Given the description of an element on the screen output the (x, y) to click on. 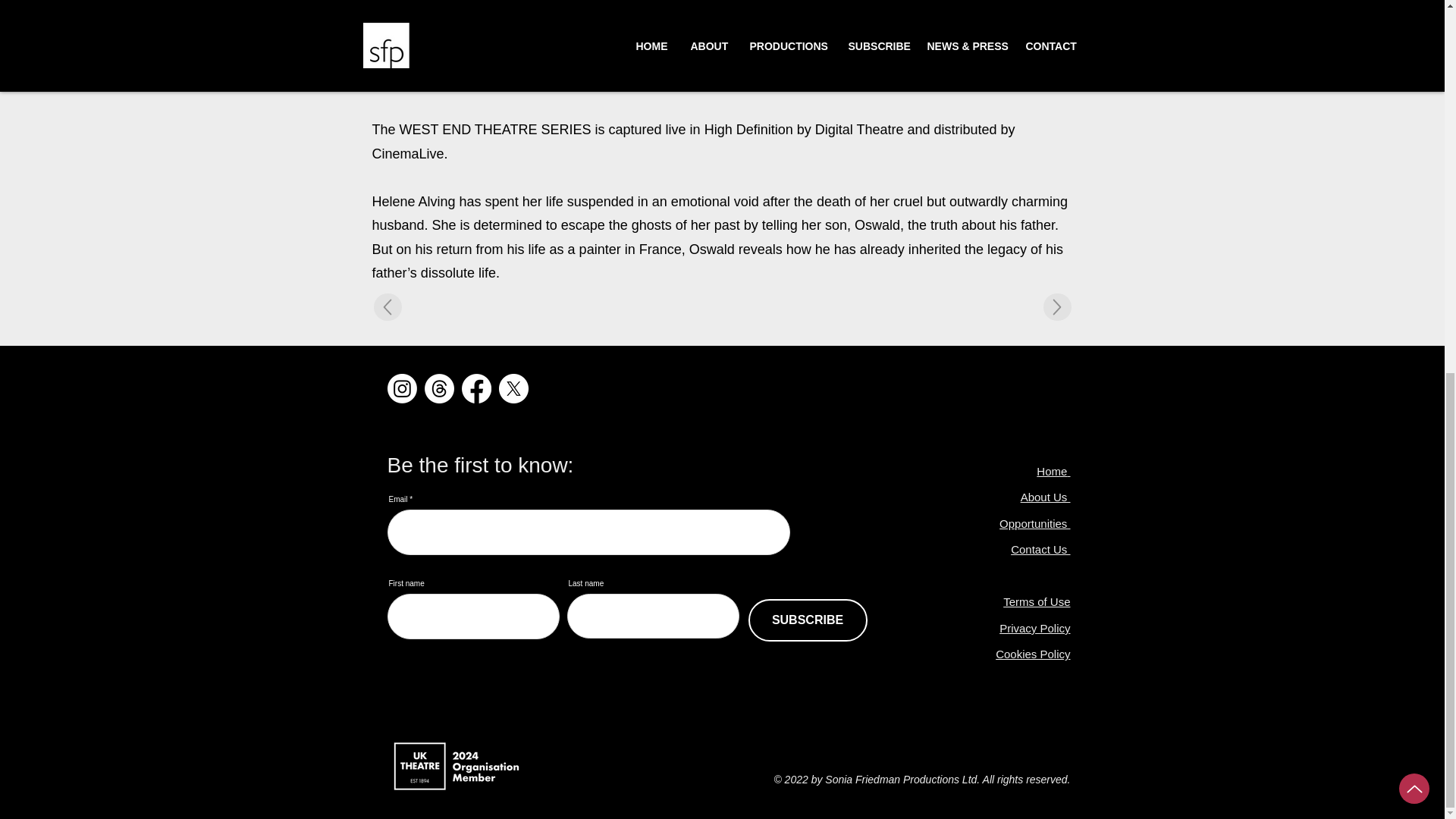
Terms of Use (1036, 601)
SUBSCRIBE (807, 619)
Home (1051, 471)
Cookies Policy (1032, 653)
Opportunities  (1034, 522)
Privacy Policy (1034, 627)
About Us  (1045, 496)
